Given the description of an element on the screen output the (x, y) to click on. 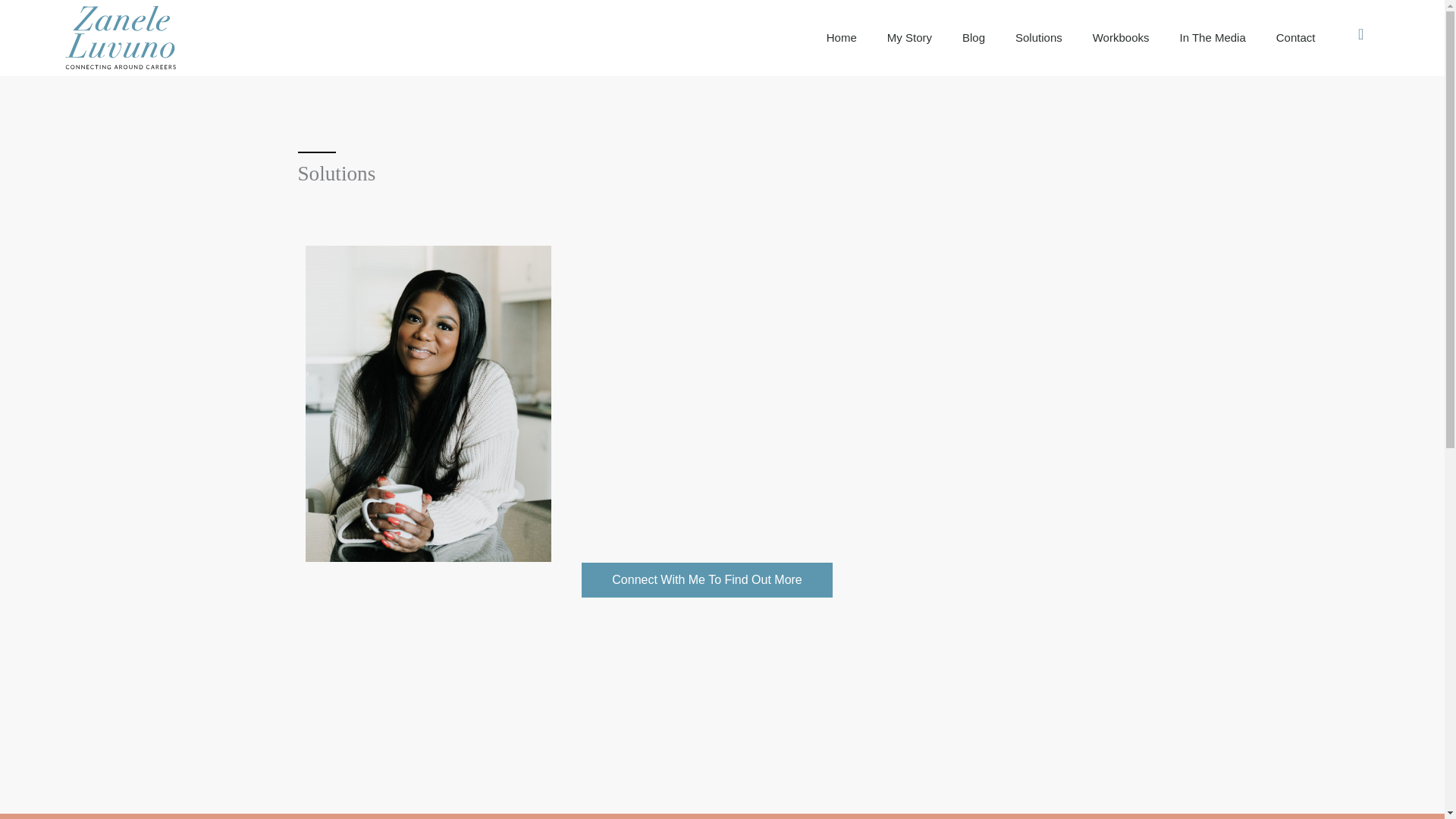
Workbooks (1120, 38)
Solutions (1038, 38)
My Story (909, 38)
Contact (1295, 38)
In The Media (1212, 38)
